Given the description of an element on the screen output the (x, y) to click on. 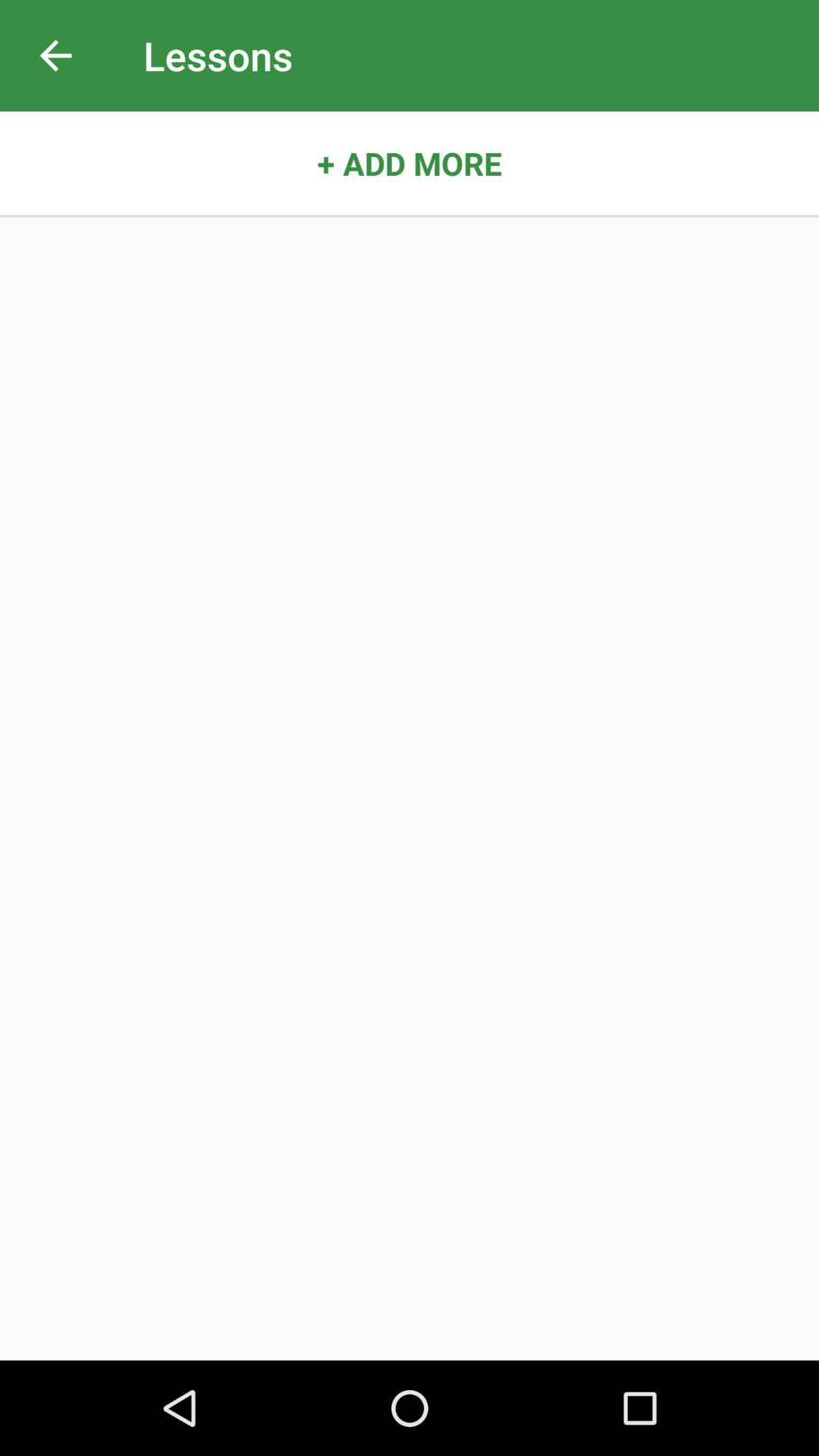
turn off item above + add more icon (55, 55)
